Given the description of an element on the screen output the (x, y) to click on. 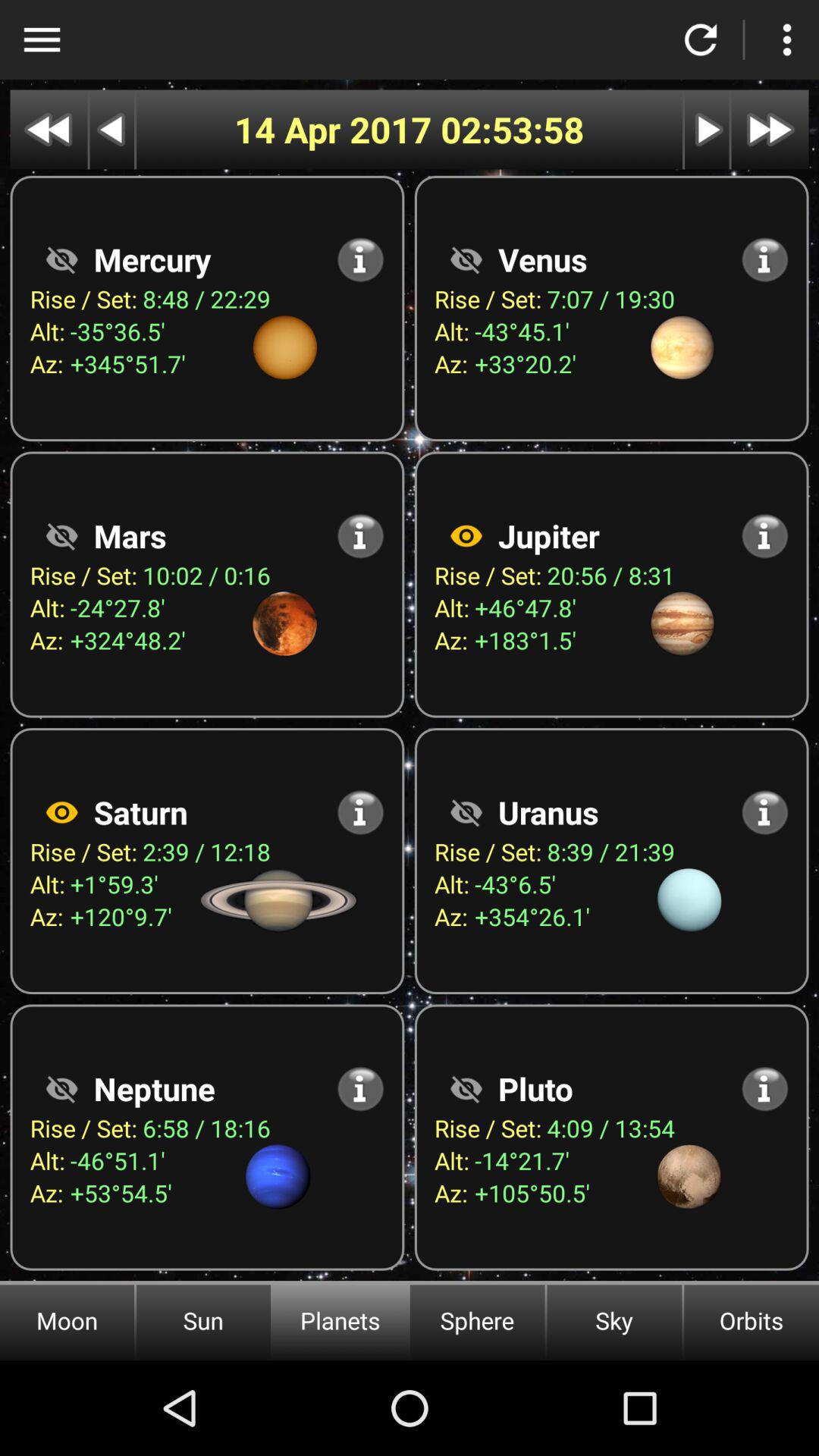
go forward (706, 129)
